Given the description of an element on the screen output the (x, y) to click on. 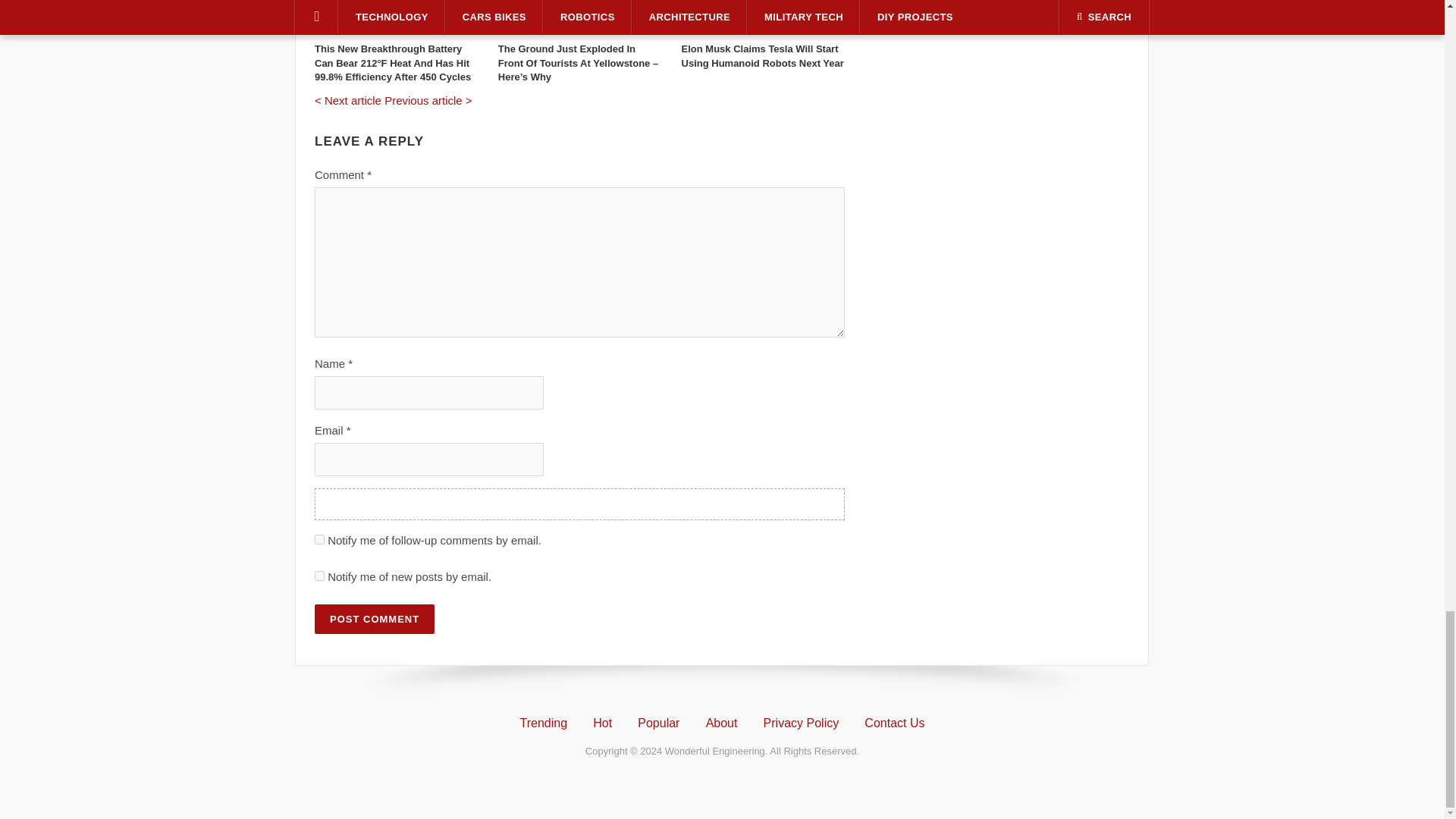
subscribe (319, 575)
Post Comment (373, 618)
subscribe (319, 539)
